Given the description of an element on the screen output the (x, y) to click on. 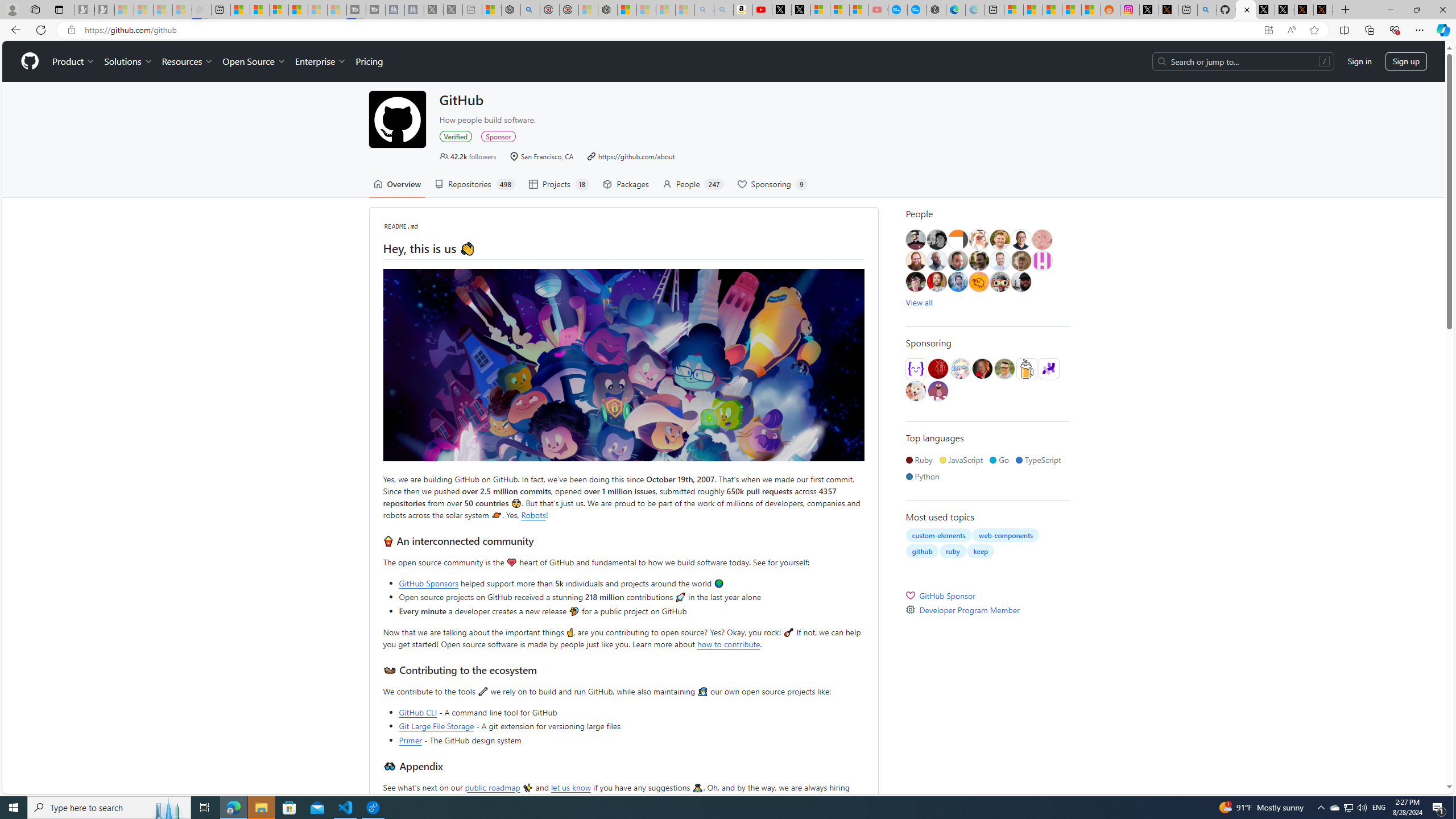
People 247 (693, 184)
@zerowidth (936, 260)
web-components (1005, 535)
42.2k followers (467, 156)
how to contribute (728, 643)
@skalnik (1042, 239)
GitHub Sponsors (428, 582)
